Given the description of an element on the screen output the (x, y) to click on. 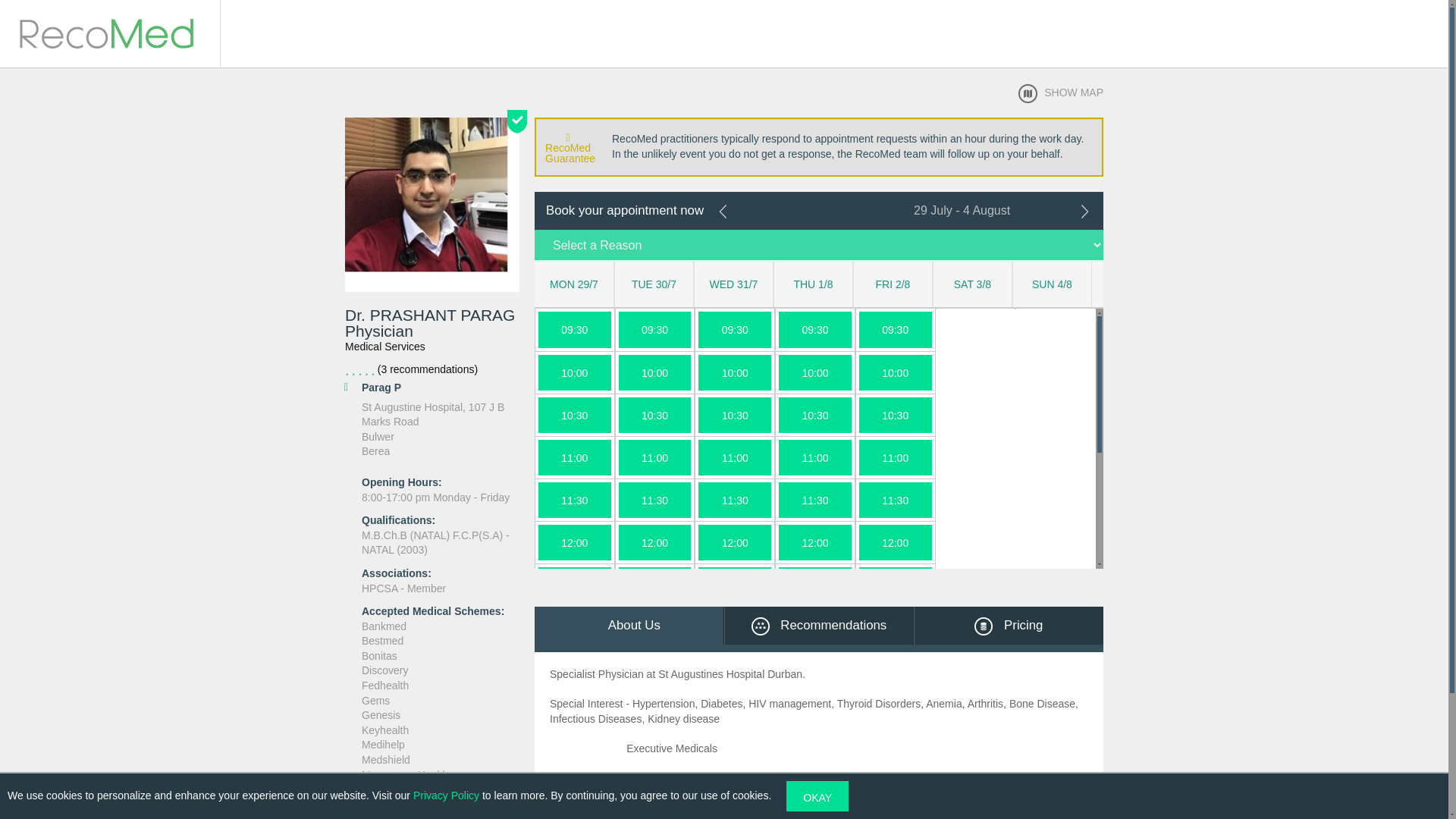
Privacy Policy (446, 795)
4.89 (432, 369)
OKAY (817, 796)
